Given the description of an element on the screen output the (x, y) to click on. 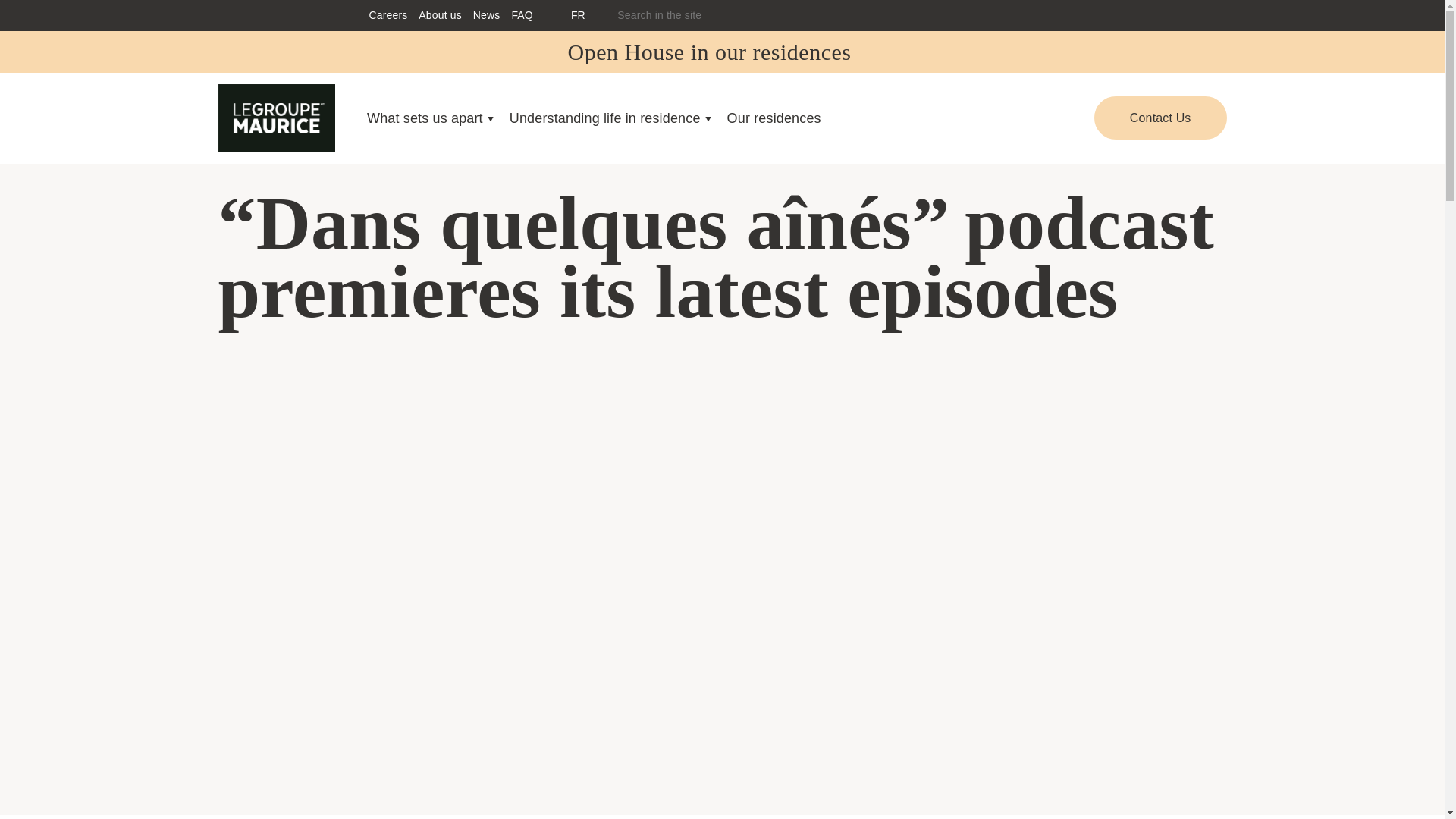
News (486, 15)
About us (440, 15)
Our residences (773, 117)
Contact Us (1160, 117)
Understanding life in residence (608, 117)
Careers (387, 15)
What sets us apart (428, 117)
FAQ (521, 15)
